Given the description of an element on the screen output the (x, y) to click on. 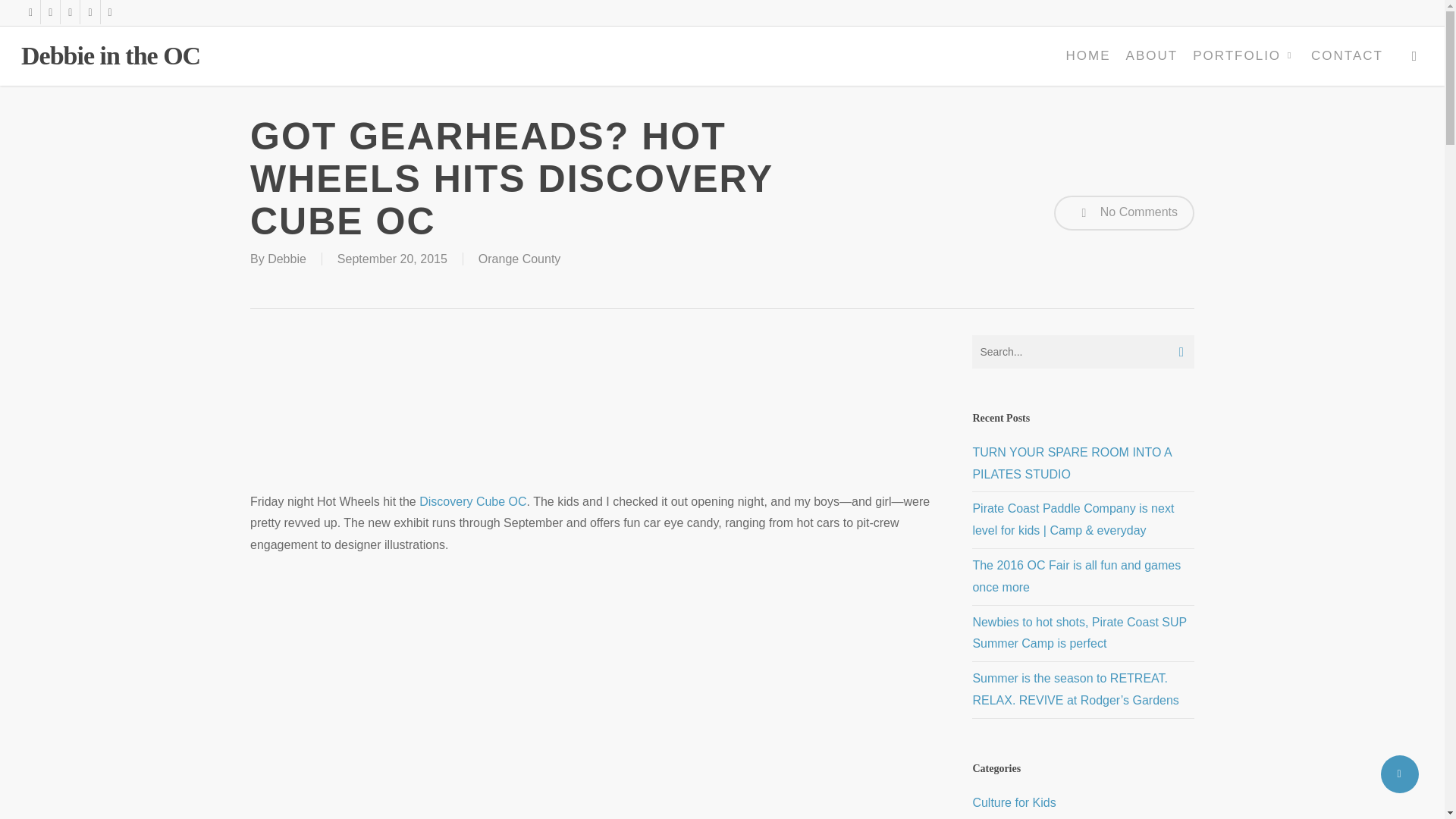
TURN YOUR SPARE ROOM INTO A PILATES STUDIO (1071, 462)
No Comments (1123, 212)
Posts by Debbie (286, 258)
instagram (109, 12)
facebook (49, 12)
OC Discovery Cube (472, 501)
The 2016 OC Fair is all fun and games once more (1076, 575)
HOME (1088, 55)
Debbie in the OC (110, 55)
Search for: (1082, 351)
twitter (30, 12)
linkedin (69, 12)
Debbie (286, 258)
ABOUT (1152, 55)
